Given the description of an element on the screen output the (x, y) to click on. 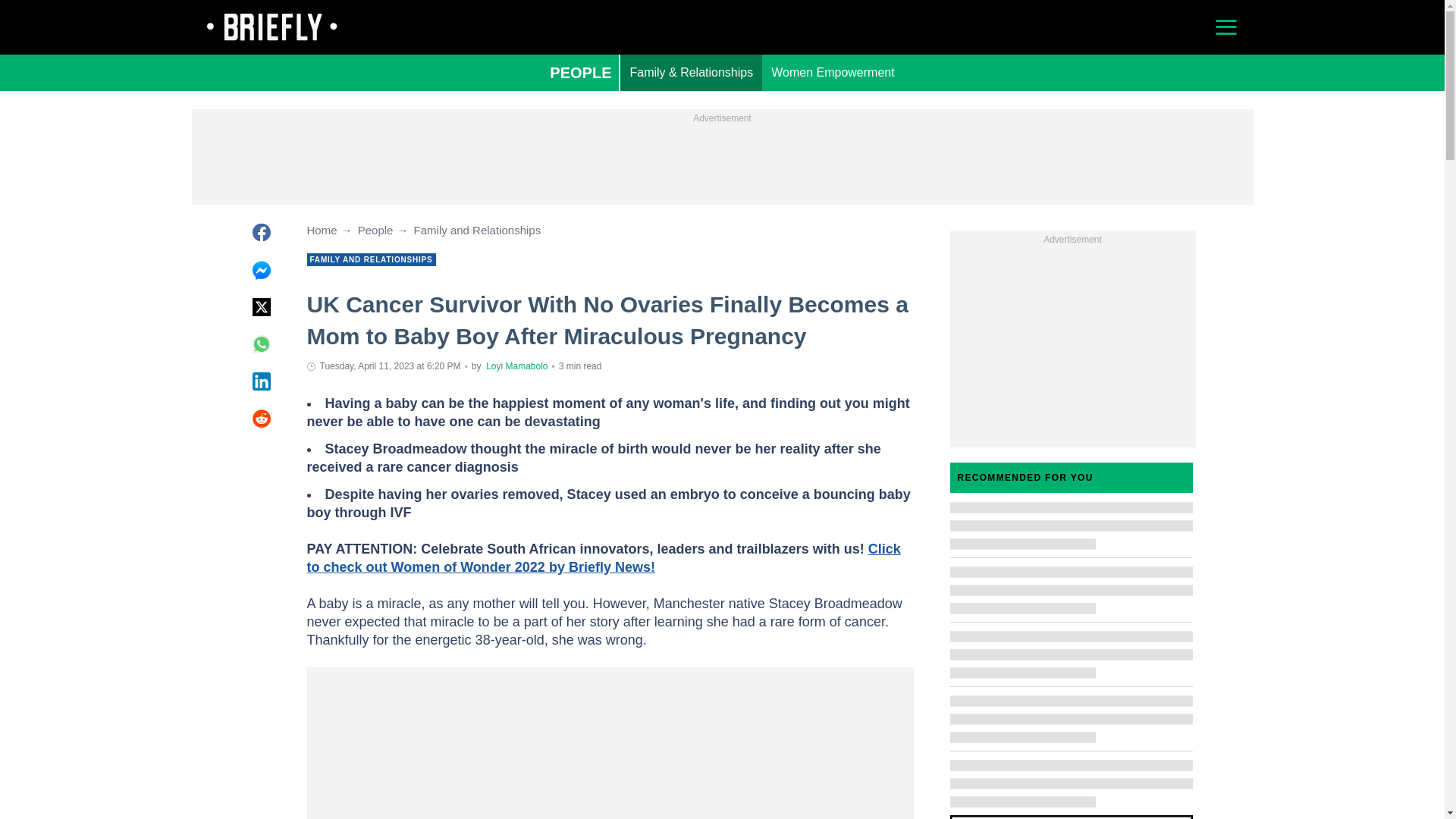
PEOPLE (580, 72)
Author page (516, 366)
Women Empowerment (831, 72)
